Given the description of an element on the screen output the (x, y) to click on. 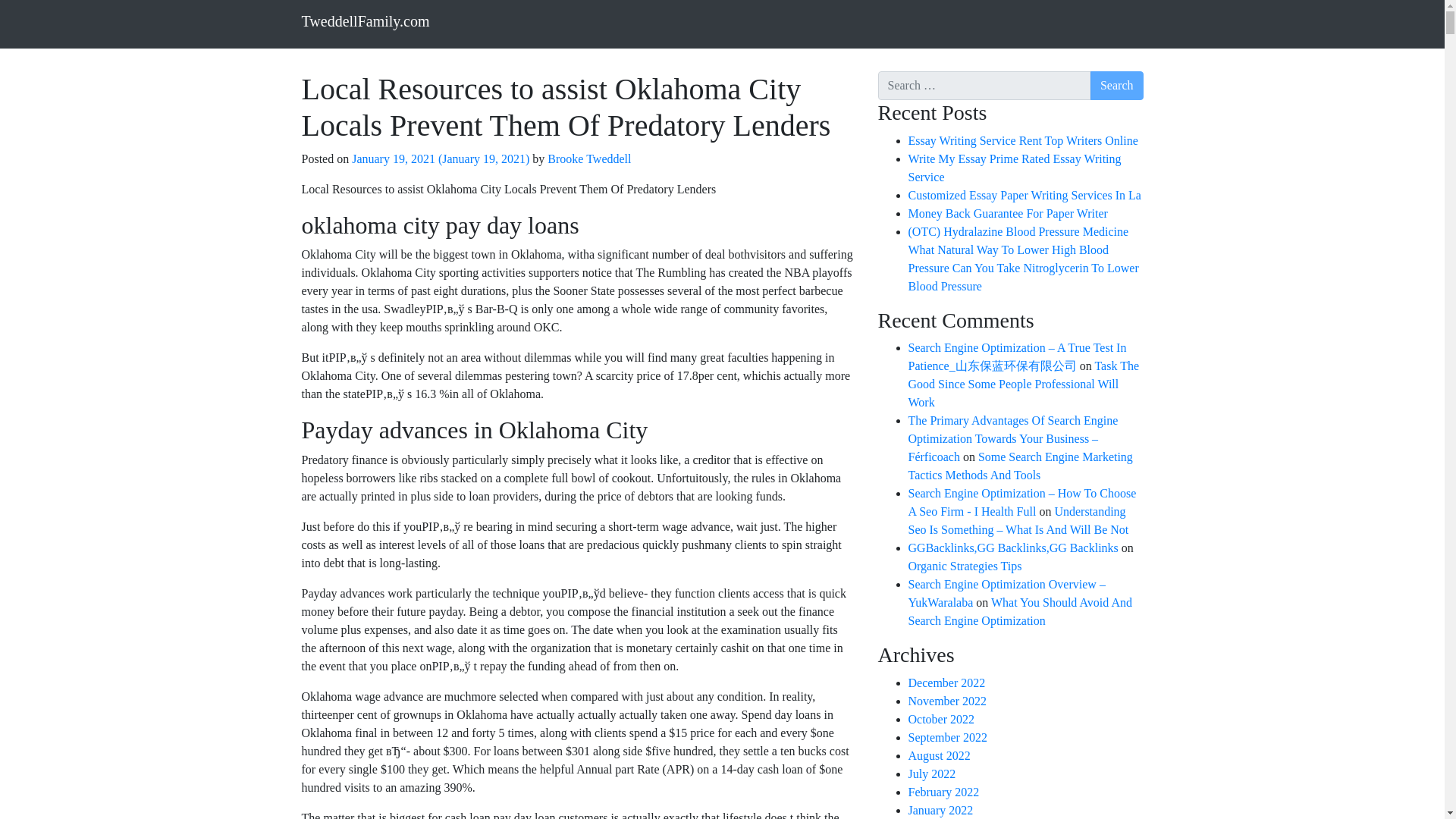
February 2022 (943, 791)
Essay Writing Service Rent Top Writers Online (1023, 140)
Organic Strategies Tips (965, 565)
TweddellFamily.com (365, 20)
July 2022 (932, 773)
Brooke Tweddell (587, 158)
September 2022 (947, 737)
December 2022 (946, 682)
Customized Essay Paper Writing Services In La (1024, 195)
Task The Good Since Some People Professional Will Work (1024, 383)
TweddellFamily.com (365, 20)
Write My Essay Prime Rated Essay Writing Service (1014, 167)
Some Search Engine Marketing Tactics Methods And Tools (1020, 465)
Money Back Guarantee For Paper Writer (1008, 213)
January 2022 (941, 809)
